Given the description of an element on the screen output the (x, y) to click on. 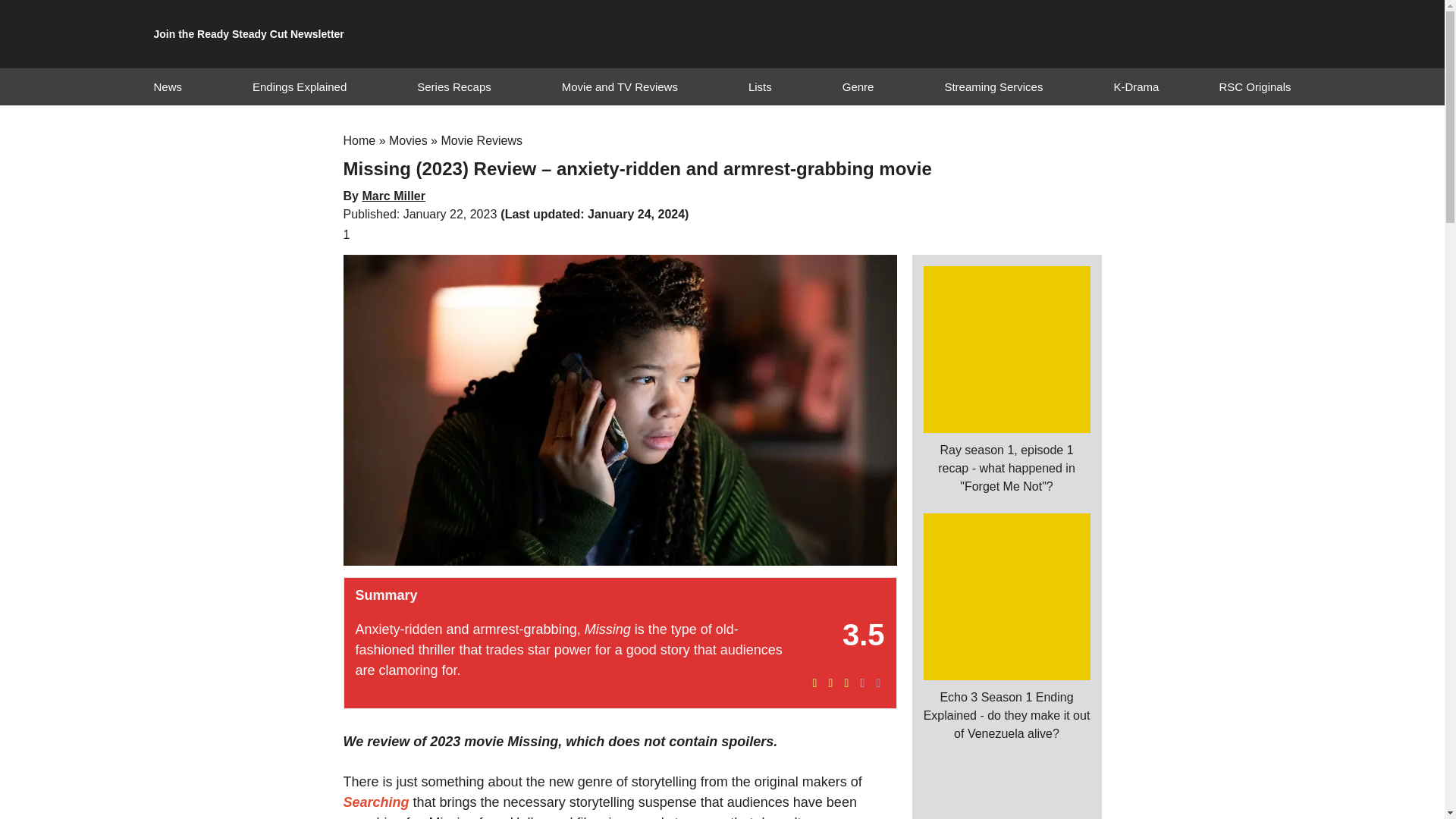
Join the Ready Steady Cut Newsletter (247, 33)
Endings Explained (298, 86)
Streaming Services (992, 86)
RSC Originals (1254, 86)
K-Drama (1135, 86)
Series Recaps (454, 86)
Movie and TV Reviews (620, 86)
